Given the description of an element on the screen output the (x, y) to click on. 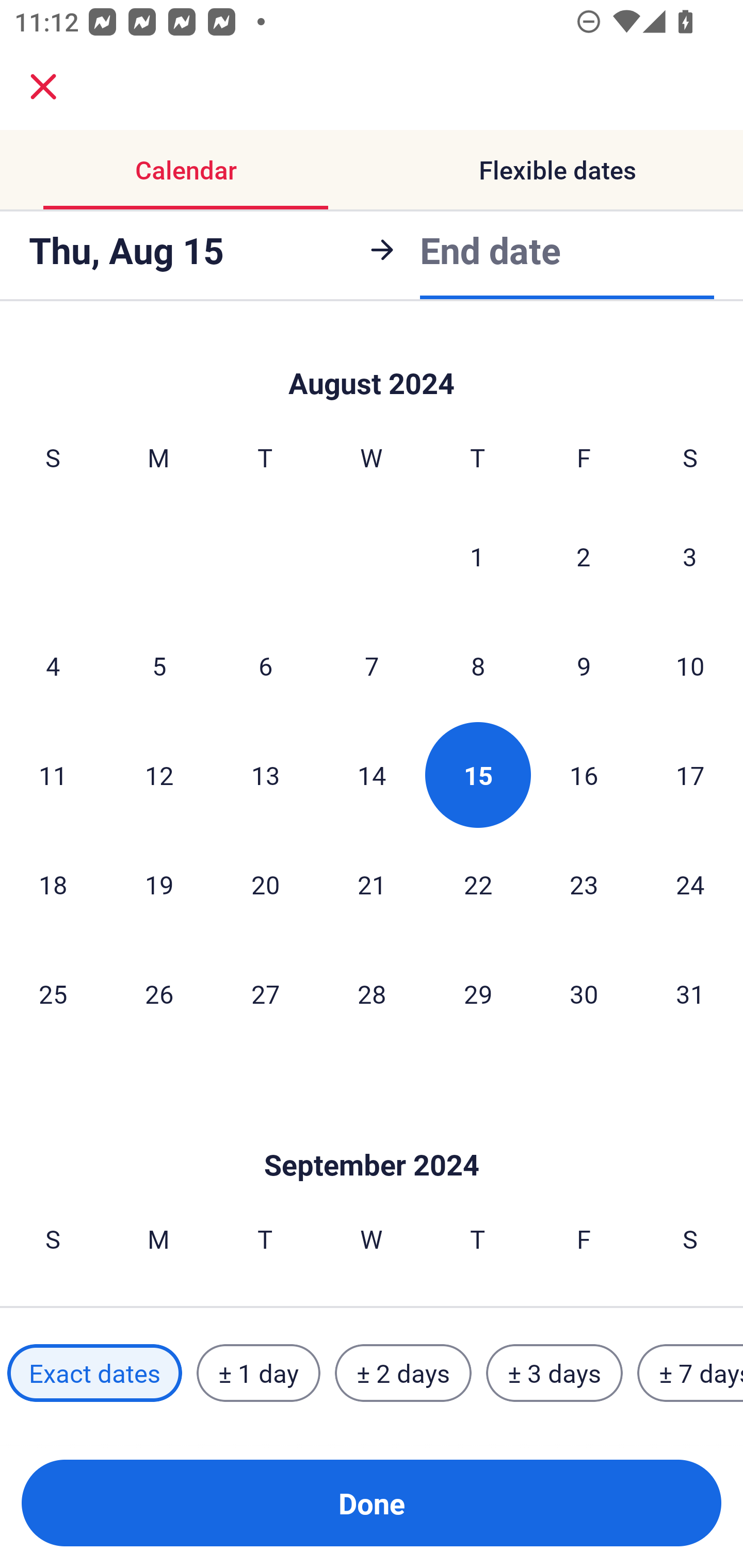
close. (43, 86)
Flexible dates (557, 170)
End date (489, 249)
Skip to Done (371, 363)
1 Thursday, August 1, 2024 (477, 555)
2 Friday, August 2, 2024 (583, 555)
3 Saturday, August 3, 2024 (689, 555)
4 Sunday, August 4, 2024 (53, 665)
5 Monday, August 5, 2024 (159, 665)
6 Tuesday, August 6, 2024 (265, 665)
7 Wednesday, August 7, 2024 (371, 665)
8 Thursday, August 8, 2024 (477, 665)
9 Friday, August 9, 2024 (584, 665)
10 Saturday, August 10, 2024 (690, 665)
11 Sunday, August 11, 2024 (53, 774)
12 Monday, August 12, 2024 (159, 774)
13 Tuesday, August 13, 2024 (265, 774)
14 Wednesday, August 14, 2024 (371, 774)
16 Friday, August 16, 2024 (584, 774)
17 Saturday, August 17, 2024 (690, 774)
18 Sunday, August 18, 2024 (53, 884)
19 Monday, August 19, 2024 (159, 884)
20 Tuesday, August 20, 2024 (265, 884)
21 Wednesday, August 21, 2024 (371, 884)
22 Thursday, August 22, 2024 (477, 884)
23 Friday, August 23, 2024 (584, 884)
24 Saturday, August 24, 2024 (690, 884)
25 Sunday, August 25, 2024 (53, 992)
26 Monday, August 26, 2024 (159, 992)
27 Tuesday, August 27, 2024 (265, 992)
28 Wednesday, August 28, 2024 (371, 992)
29 Thursday, August 29, 2024 (477, 992)
30 Friday, August 30, 2024 (584, 992)
31 Saturday, August 31, 2024 (690, 992)
Skip to Done (371, 1134)
Exact dates (94, 1372)
± 1 day (258, 1372)
± 2 days (403, 1372)
± 3 days (553, 1372)
± 7 days (690, 1372)
Done (371, 1502)
